Given the description of an element on the screen output the (x, y) to click on. 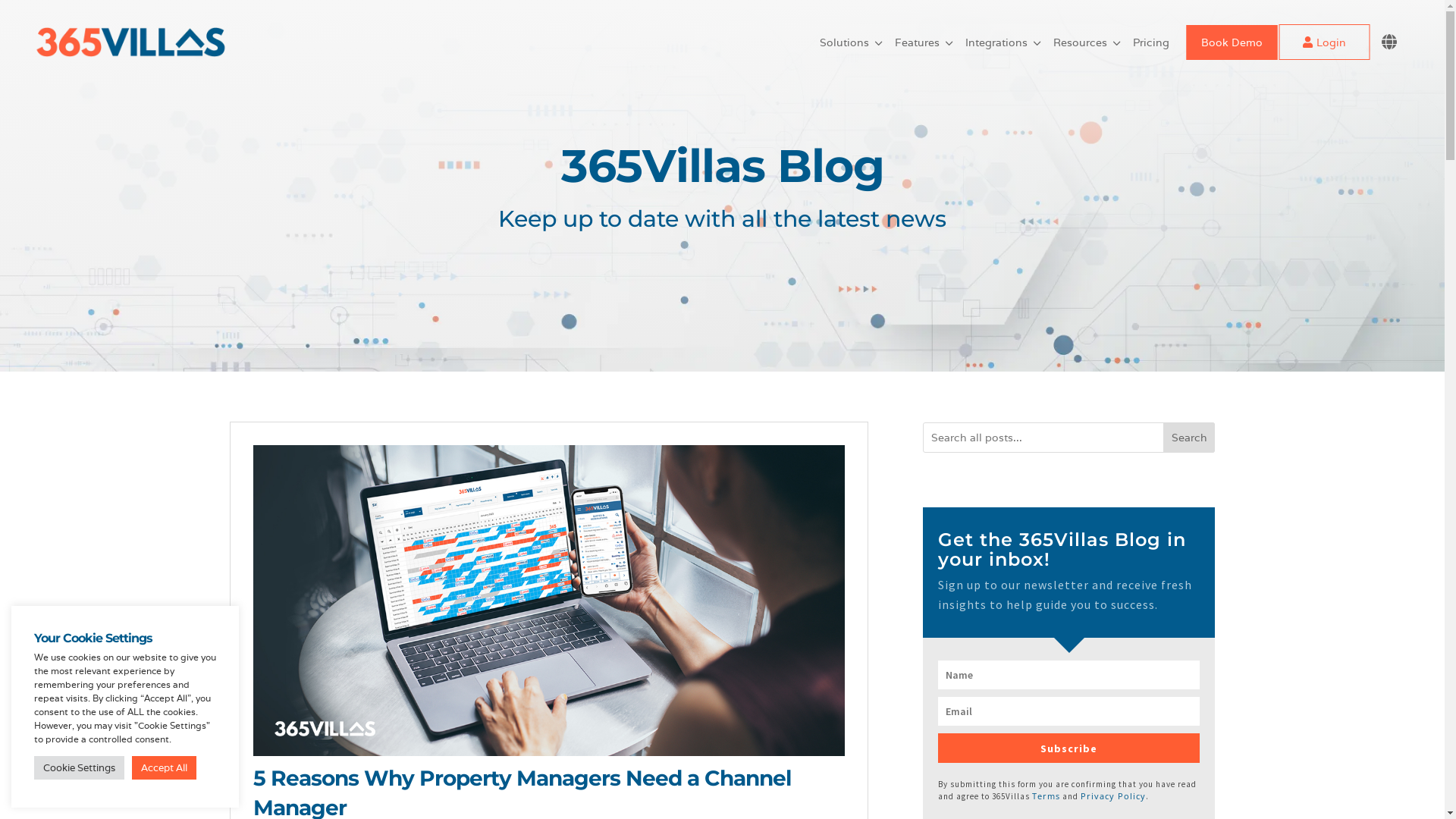
Privacy Policy Element type: text (1112, 795)
3
Resources Element type: text (1088, 41)
Terms Element type: text (1046, 795)
3
Integrations Element type: text (1004, 41)
Subscribe Element type: text (1069, 747)
Pricing Element type: text (1151, 42)
3
Features Element type: text (925, 41)
Accept All Element type: text (163, 767)
Book Demo Element type: text (1231, 41)
3
Solutions Element type: text (852, 41)
Cookie Settings Element type: text (79, 767)
Search Element type: text (1189, 437)
